Given the description of an element on the screen output the (x, y) to click on. 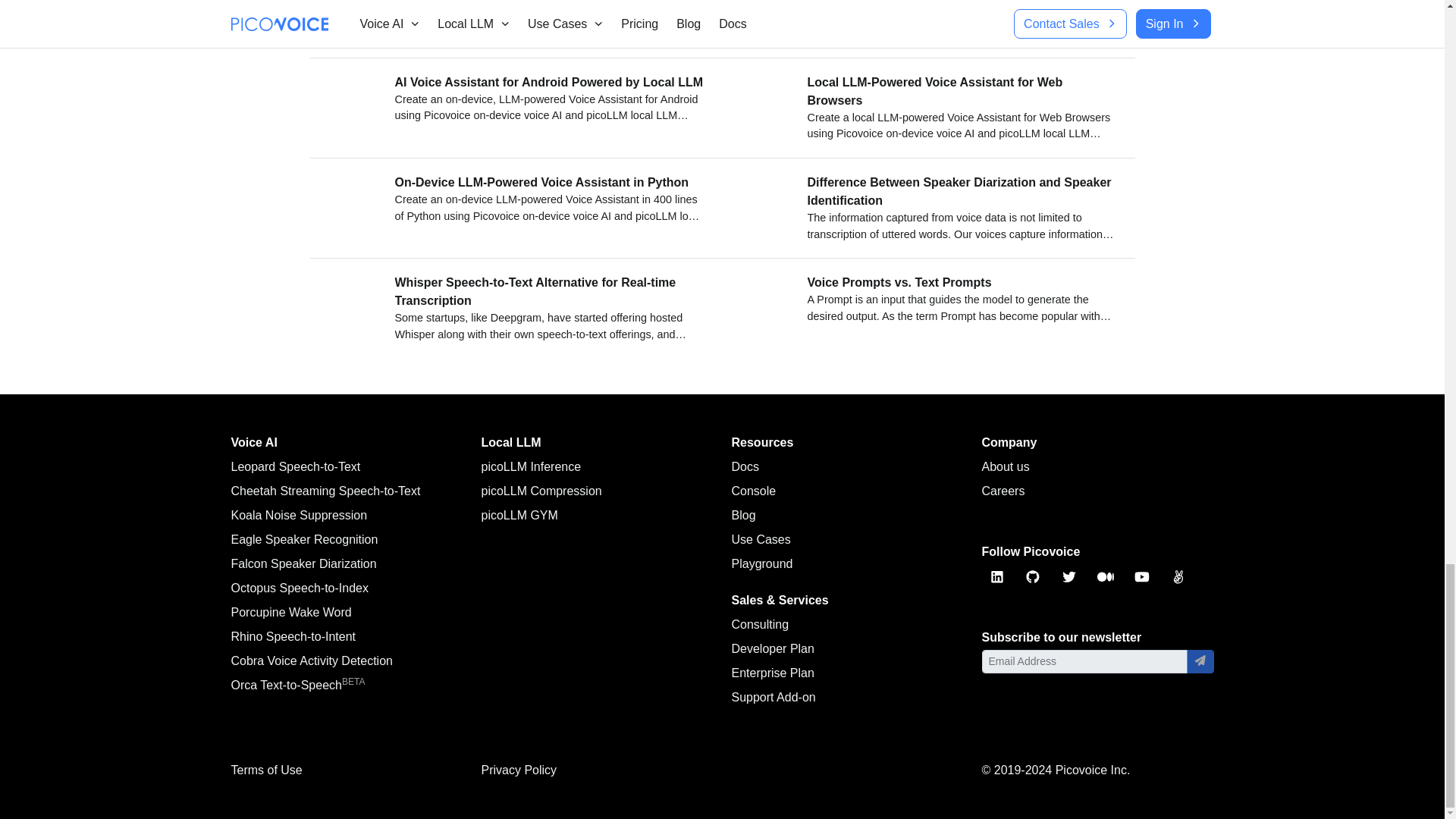
AngelList (1178, 576)
YouTube (1142, 576)
GitHub (1033, 576)
Medium (1105, 576)
Twitter (1069, 576)
LinkedIn (997, 576)
